Given the description of an element on the screen output the (x, y) to click on. 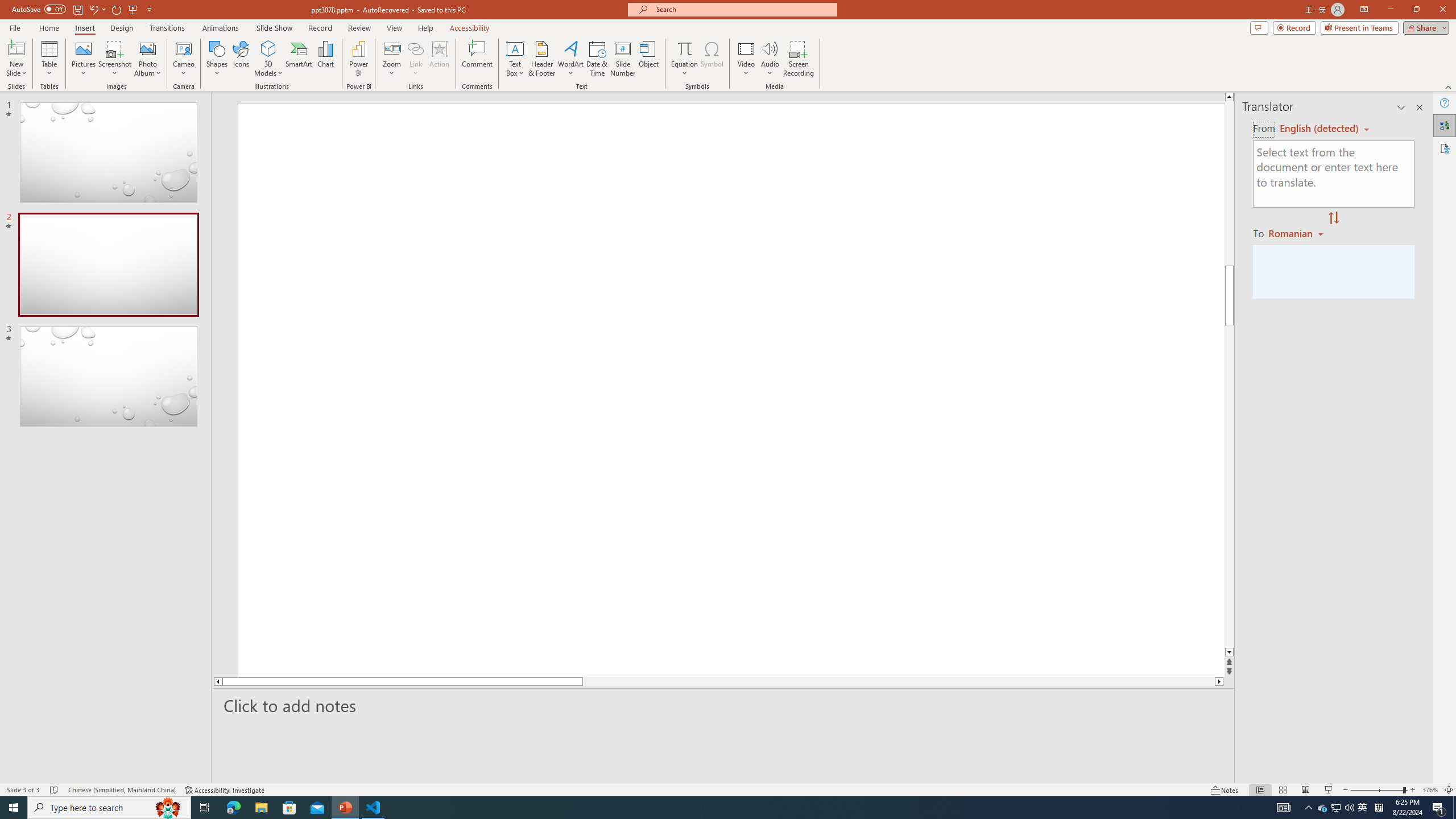
Icons (240, 58)
WordArt (570, 58)
3D Models (268, 58)
Comment (476, 58)
